Given the description of an element on the screen output the (x, y) to click on. 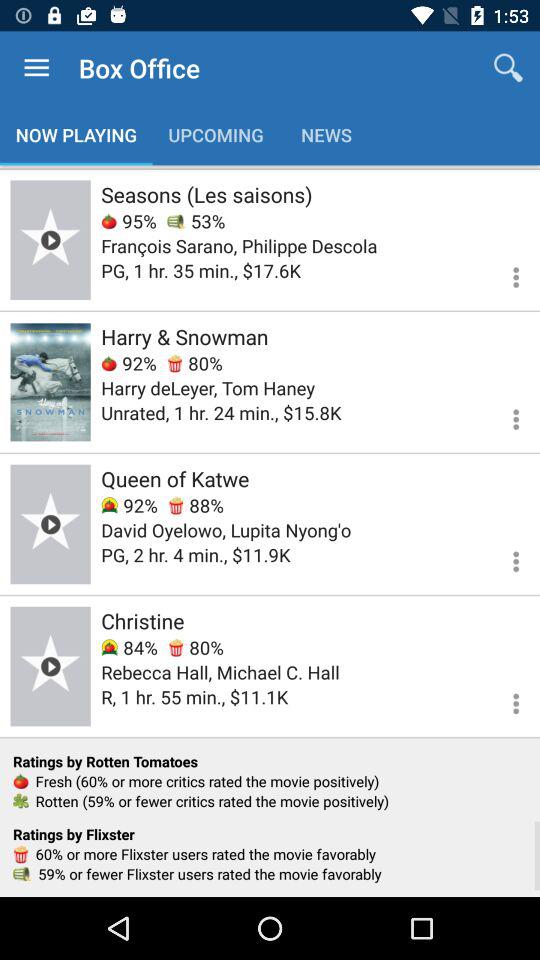
play video button (50, 524)
